Given the description of an element on the screen output the (x, y) to click on. 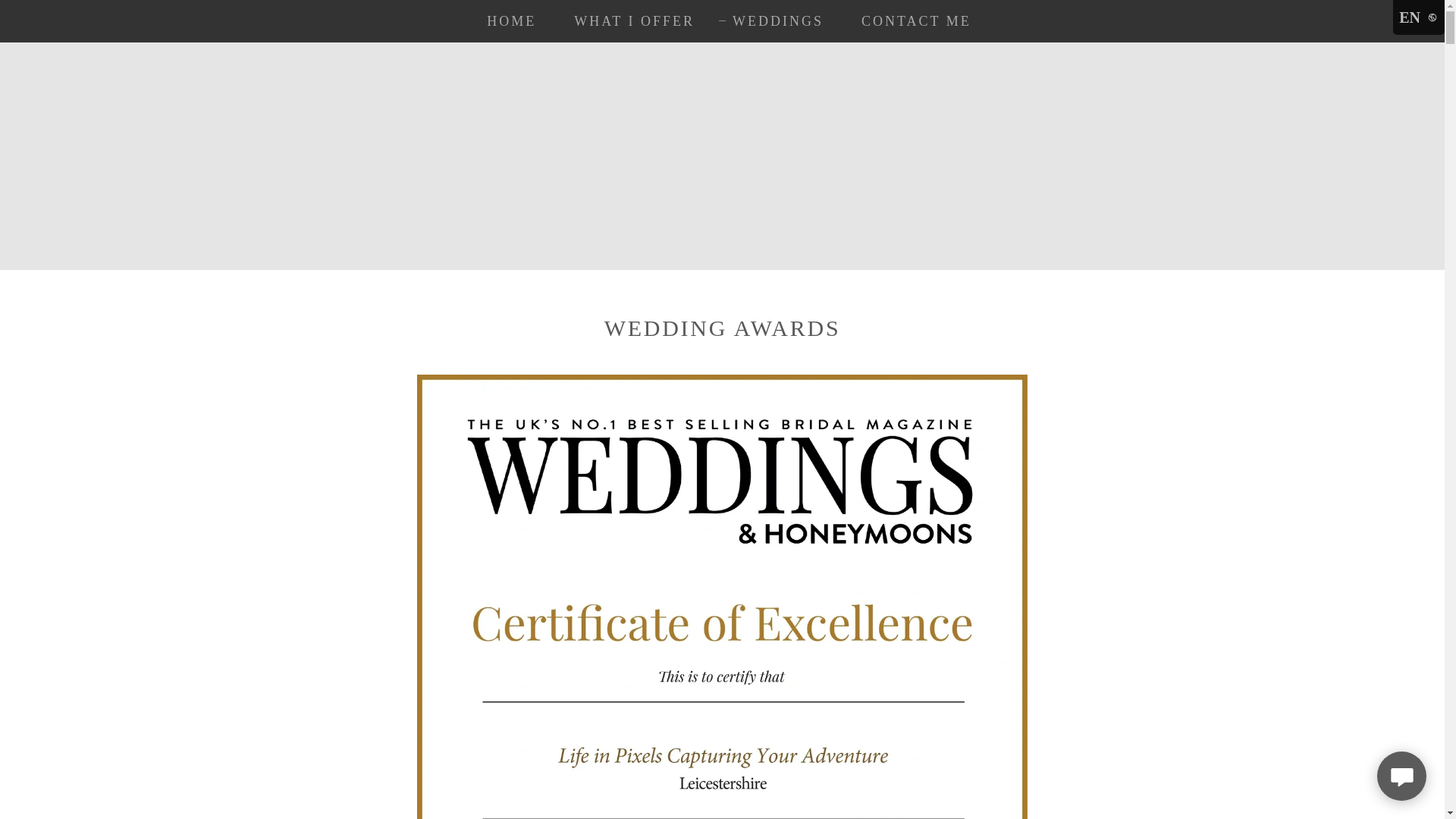
WEDDINGS (771, 21)
WHAT I OFFER (627, 21)
HOME (504, 21)
CONTACT ME (909, 21)
